Given the description of an element on the screen output the (x, y) to click on. 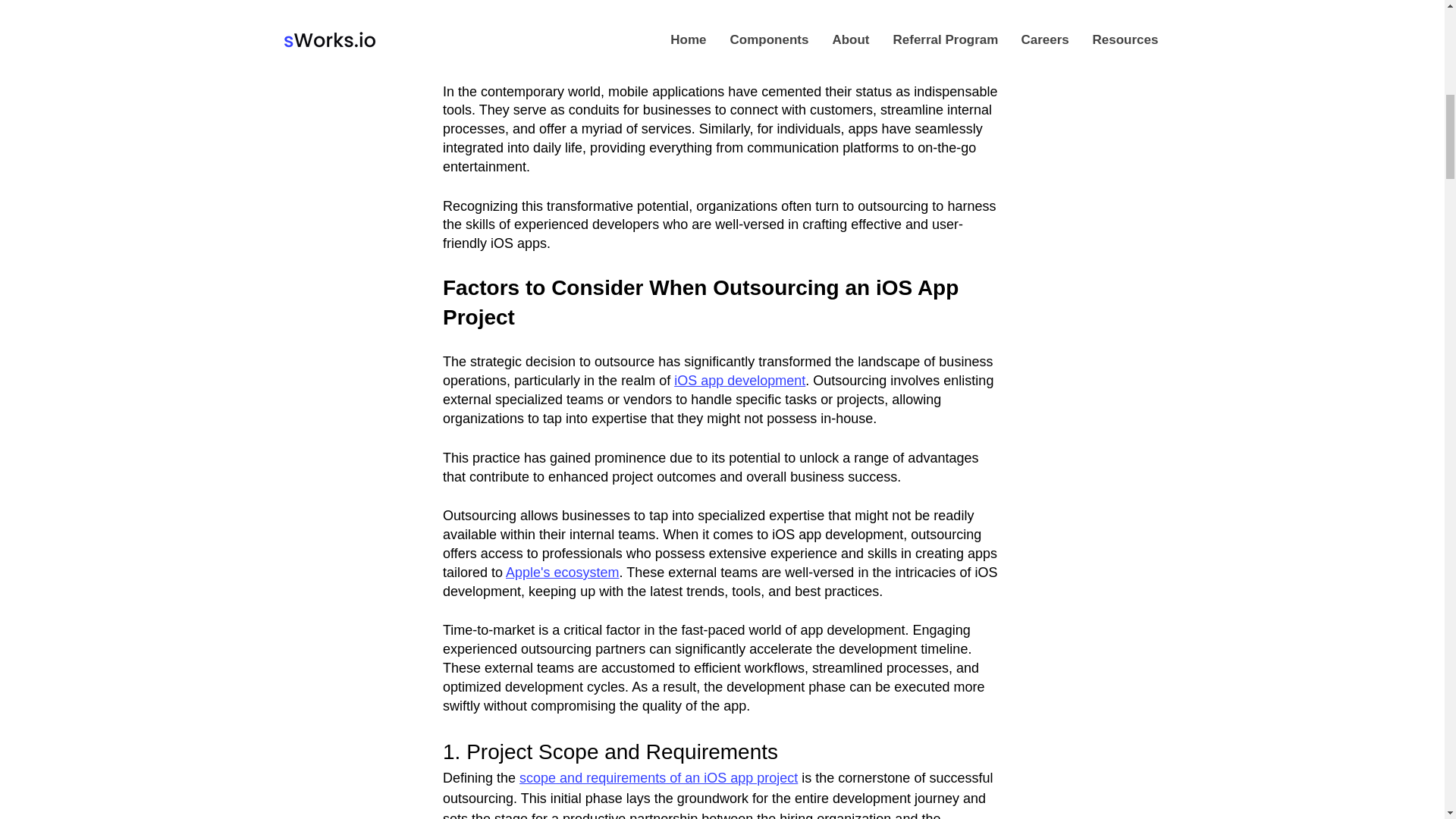
iOS app development (739, 380)
scope and requirements of an iOS app project (658, 777)
Apple's ecosystem (562, 572)
